Given the description of an element on the screen output the (x, y) to click on. 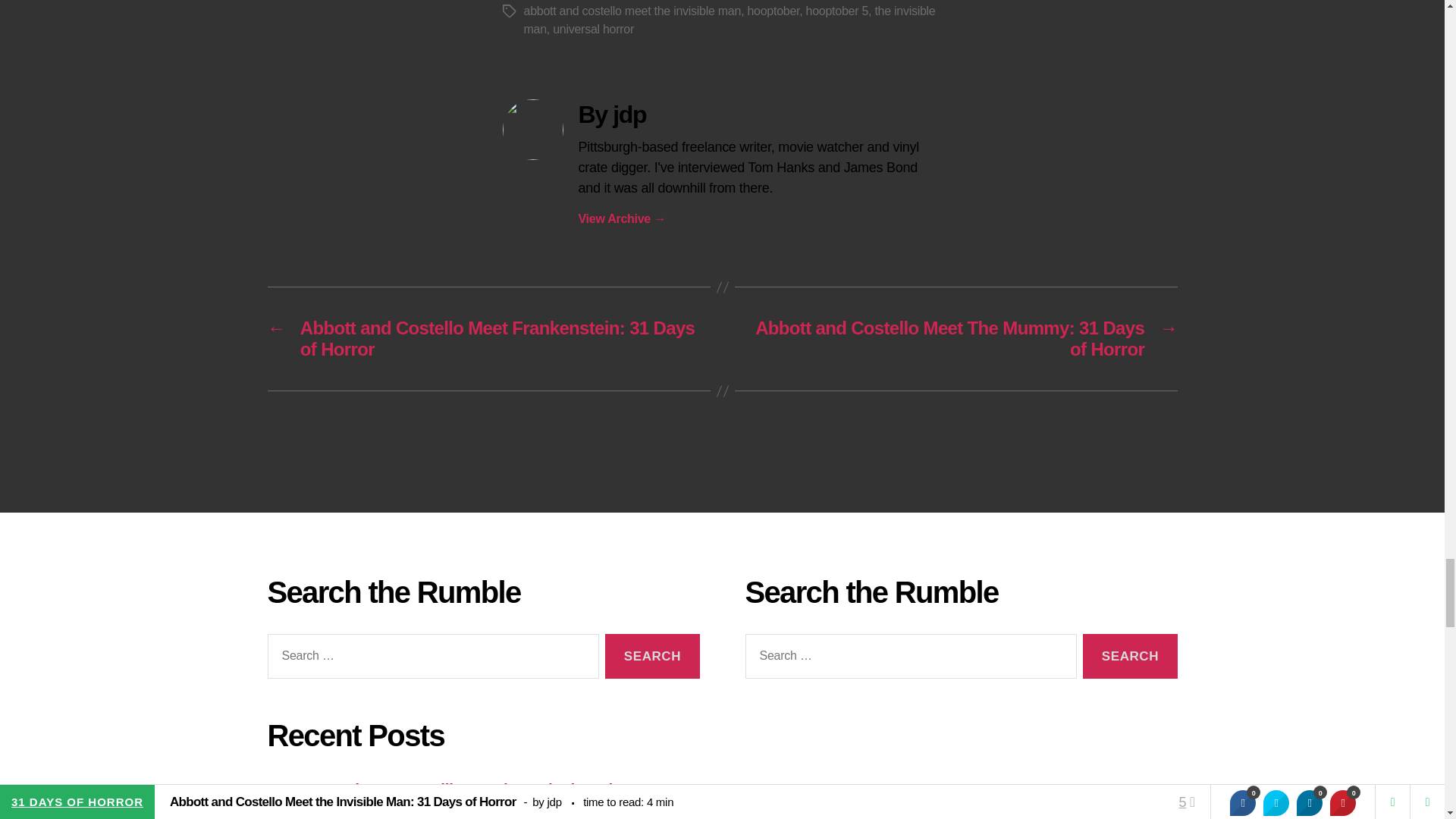
Search (651, 655)
Search (1129, 655)
Search (651, 655)
Search (1129, 655)
